Given the description of an element on the screen output the (x, y) to click on. 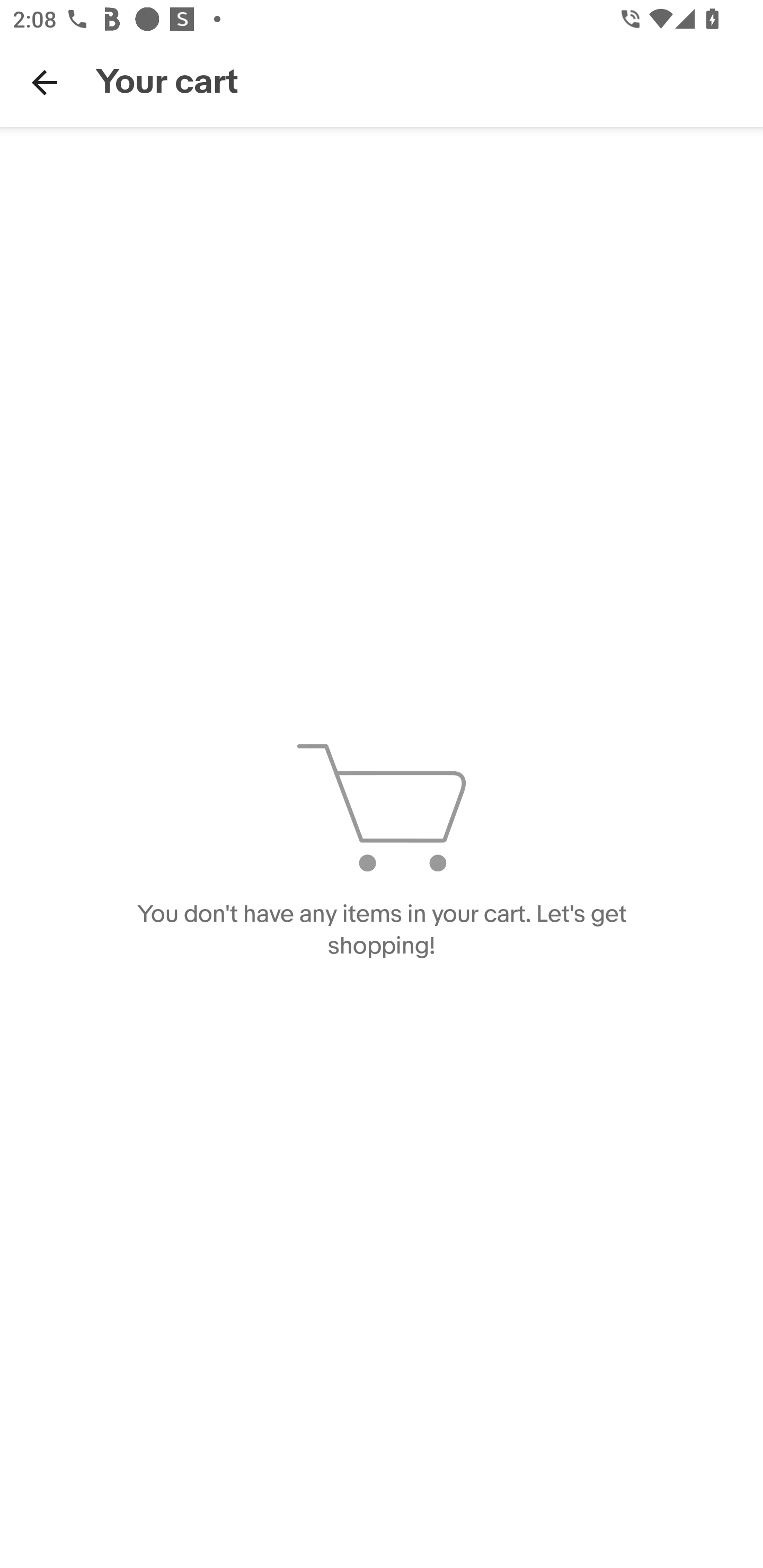
Navigate up (44, 82)
